Given the description of an element on the screen output the (x, y) to click on. 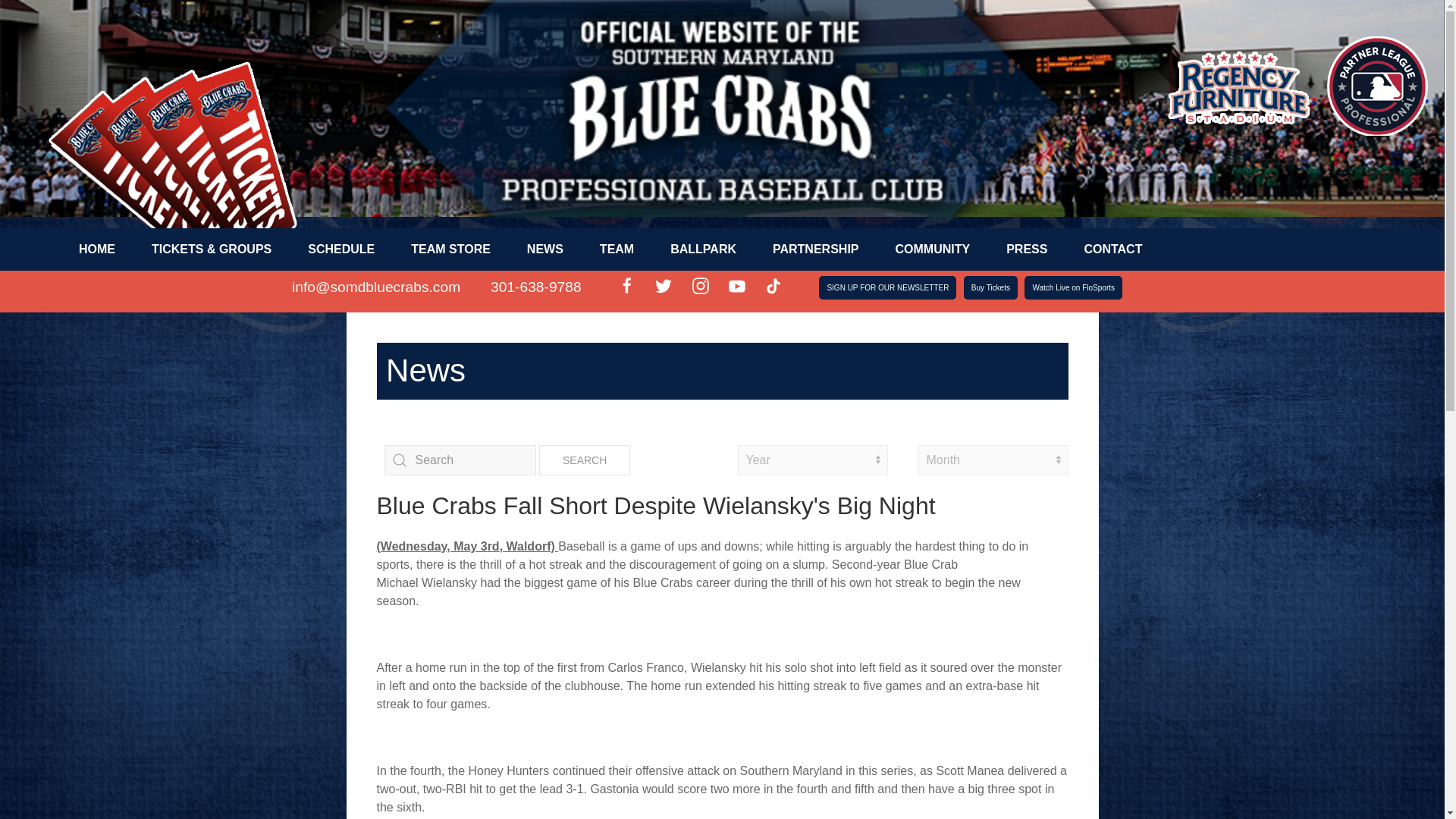
TEAM (616, 249)
SCHEDULE (341, 249)
HOME (97, 249)
TEAM STORE (450, 249)
Search (584, 460)
NEWS (544, 249)
